Given the description of an element on the screen output the (x, y) to click on. 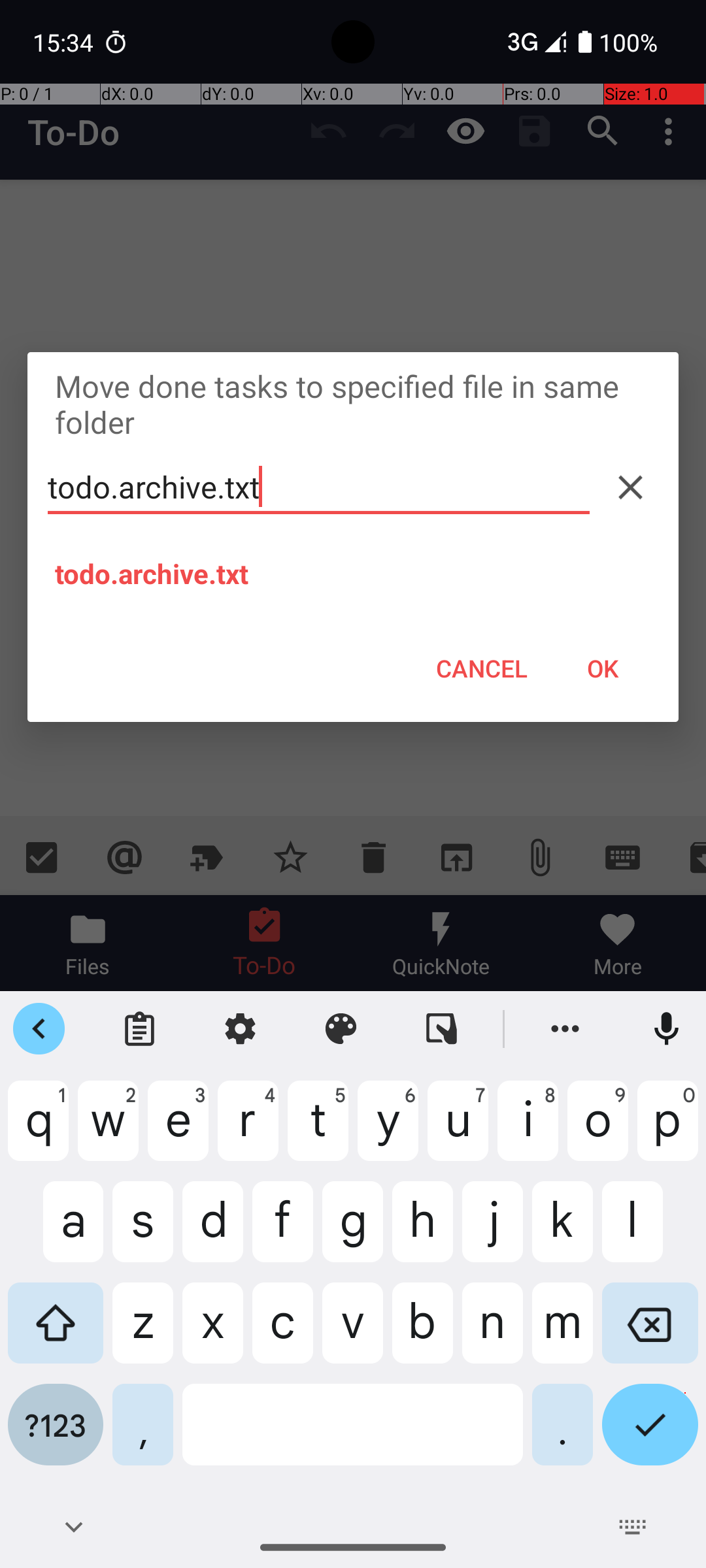
Move done tasks to specified file in same folder Element type: android.widget.TextView (352, 403)
todo.archive.txt Element type: android.widget.EditText (318, 486)
